Given the description of an element on the screen output the (x, y) to click on. 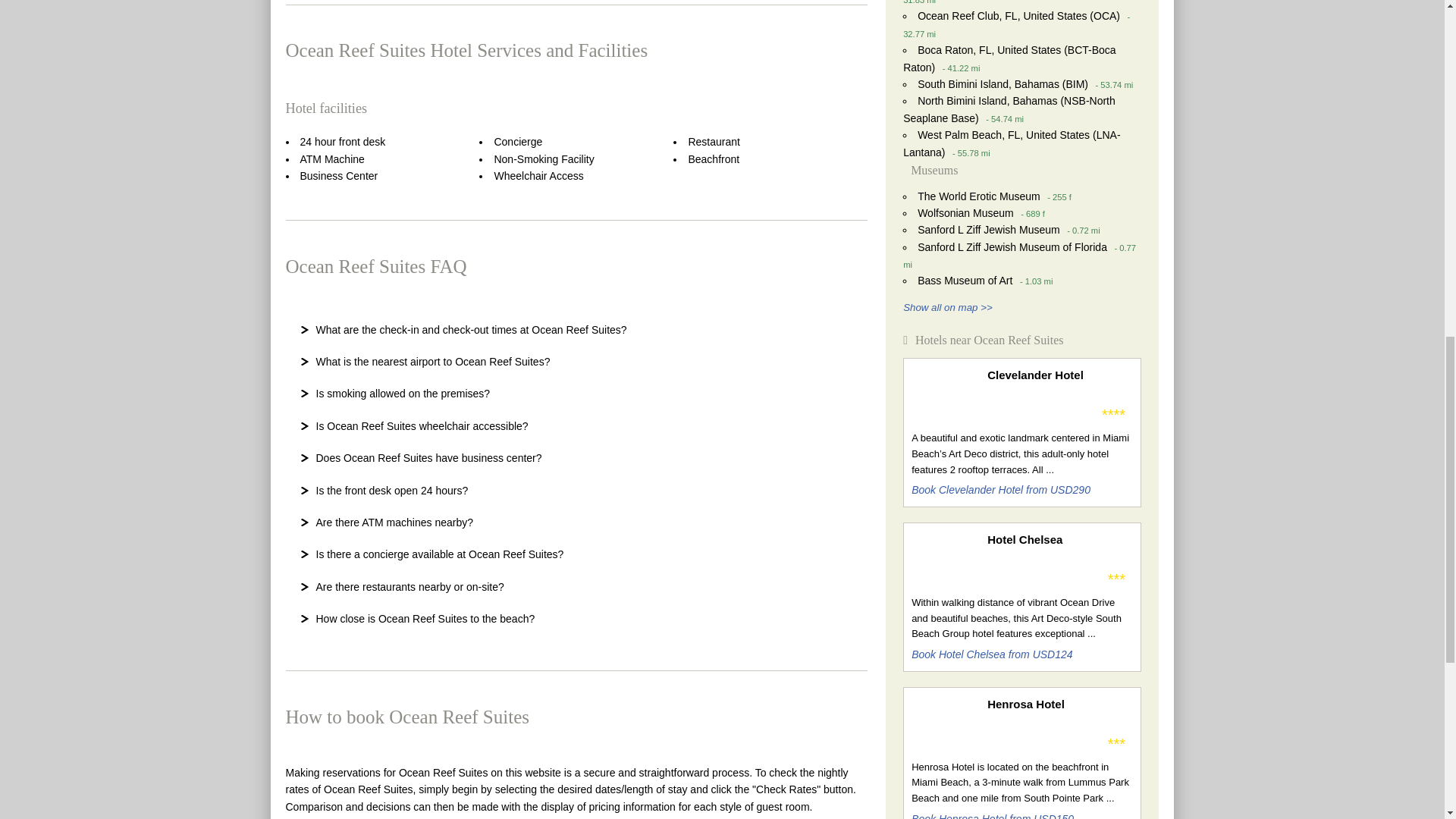
Henrosa Hotel (1059, 704)
Book Clevelander Hotel from USD290 (1000, 490)
Book Hotel Chelsea from USD124 (991, 654)
Clevelander Hotel (1059, 375)
Hotel Chelsea (1059, 539)
Book Henrosa Hotel from USD150 (992, 816)
